Given the description of an element on the screen output the (x, y) to click on. 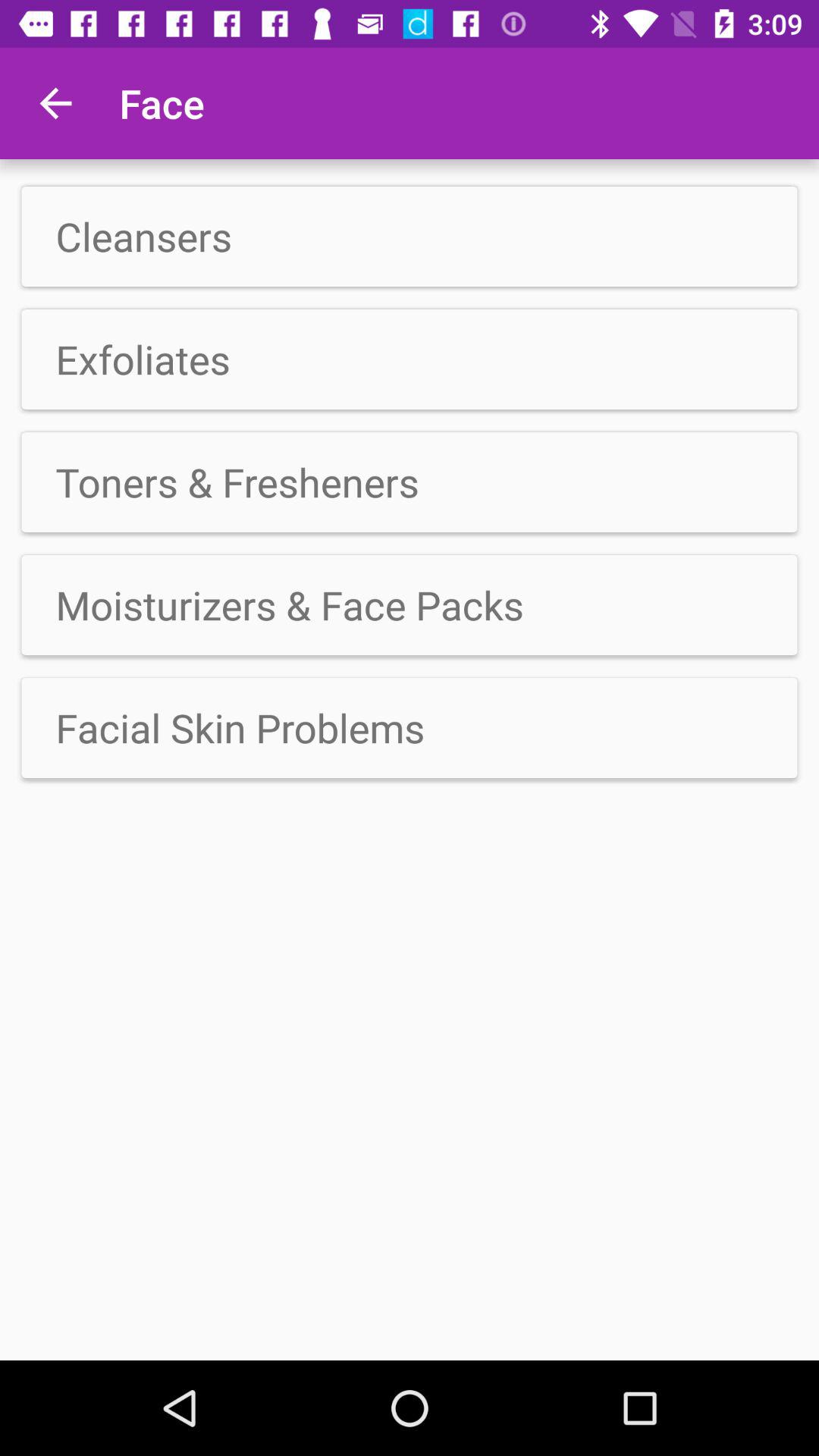
scroll until the toners & fresheners (409, 482)
